Given the description of an element on the screen output the (x, y) to click on. 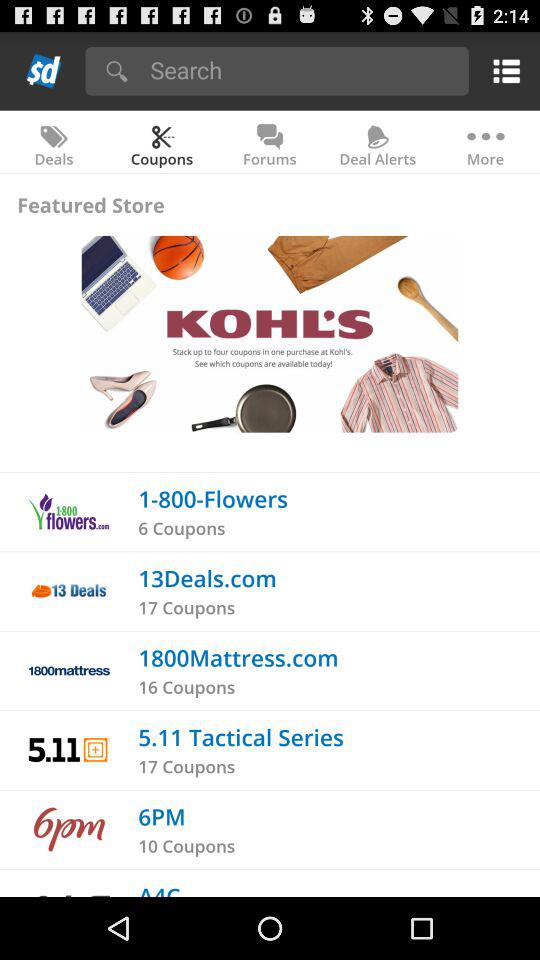
turn off the icon above a4c icon (186, 845)
